Given the description of an element on the screen output the (x, y) to click on. 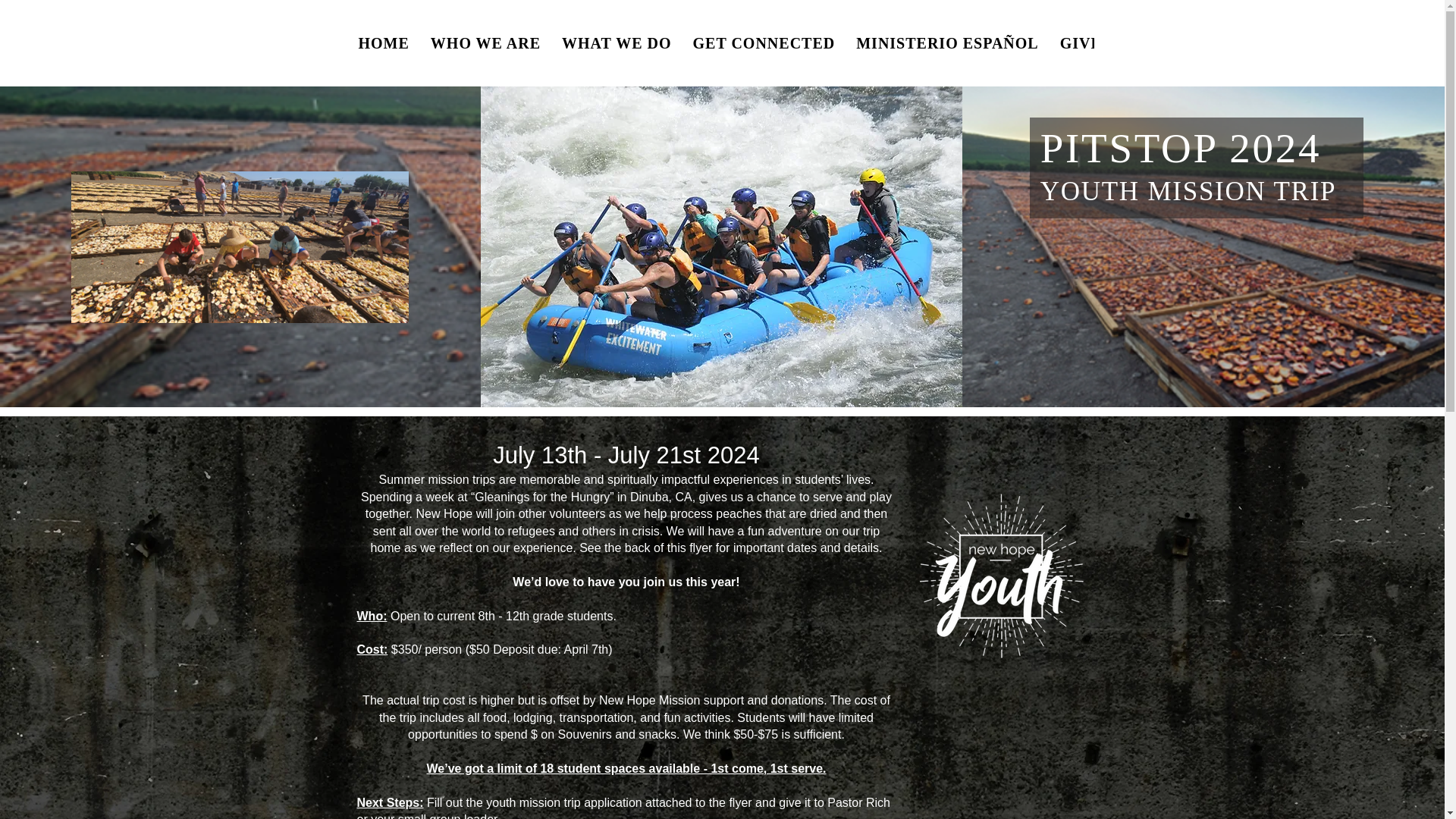
WHO WE ARE (485, 42)
GIVE (1080, 42)
HOME (383, 42)
GET CONNECTED (764, 42)
WHAT WE DO (616, 42)
